Given the description of an element on the screen output the (x, y) to click on. 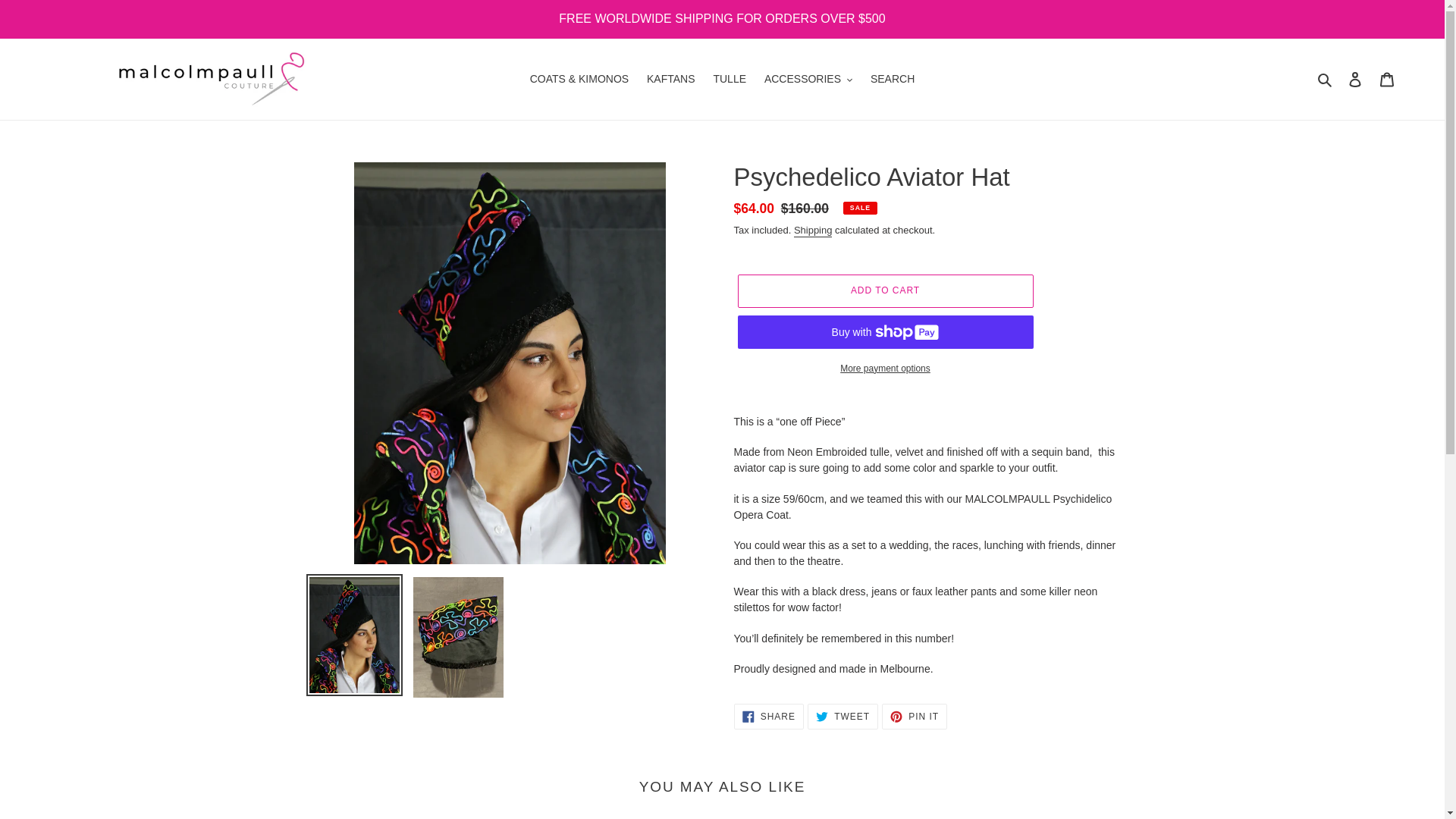
SEARCH (768, 716)
ACCESSORIES (892, 78)
Shipping (808, 78)
Search (812, 230)
Log in (1326, 78)
ADD TO CART (1355, 79)
More payment options (884, 290)
Cart (884, 368)
KAFTANS (1387, 79)
TULLE (671, 78)
